Given the description of an element on the screen output the (x, y) to click on. 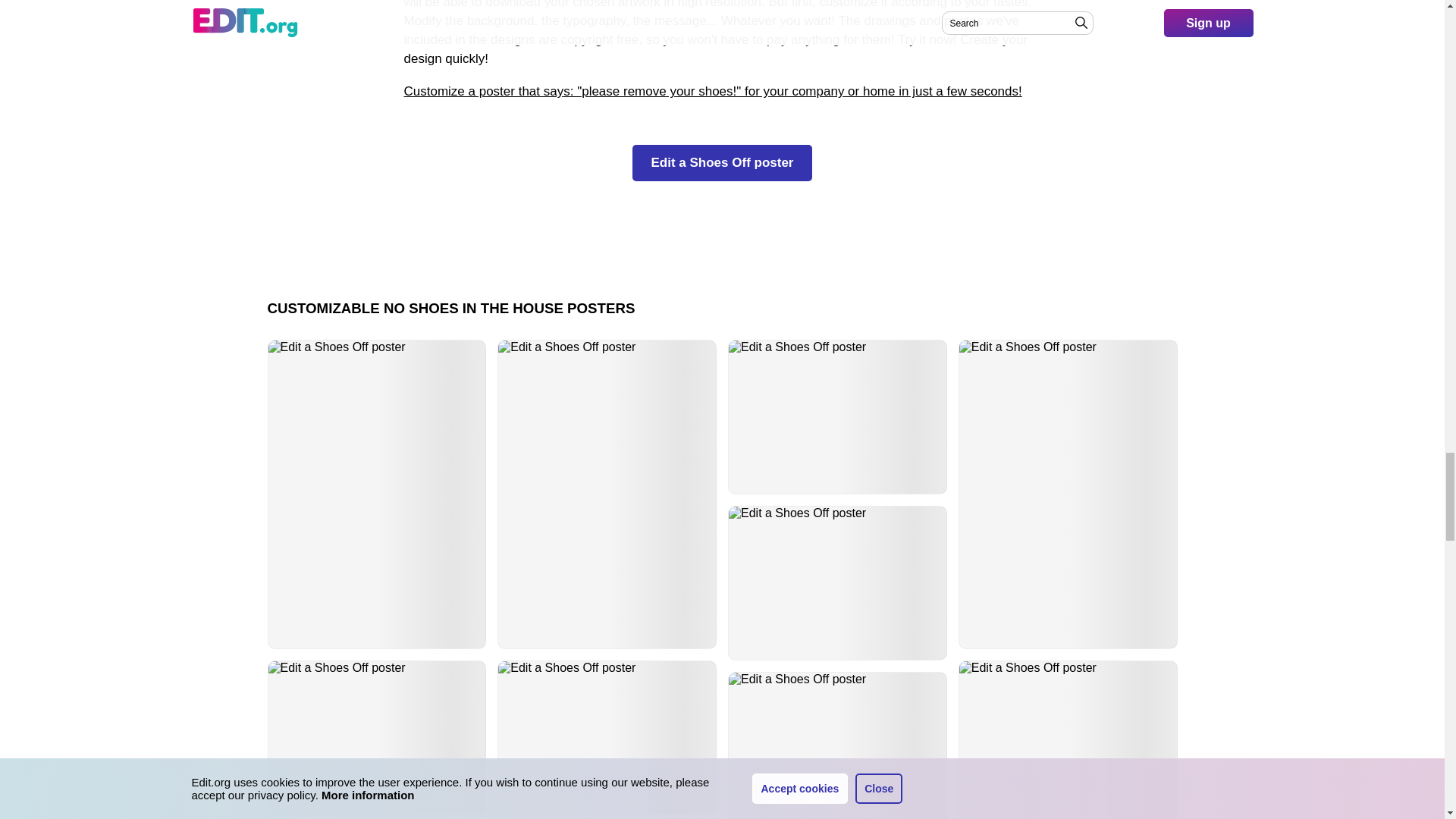
Edit a Shoes Off poster (376, 737)
Edit a Shoes Off poster (837, 416)
Edit a Shoes Off poster (606, 737)
Edit a Shoes Off poster (721, 162)
Online no shoes sign for home sign maker (712, 91)
